Given the description of an element on the screen output the (x, y) to click on. 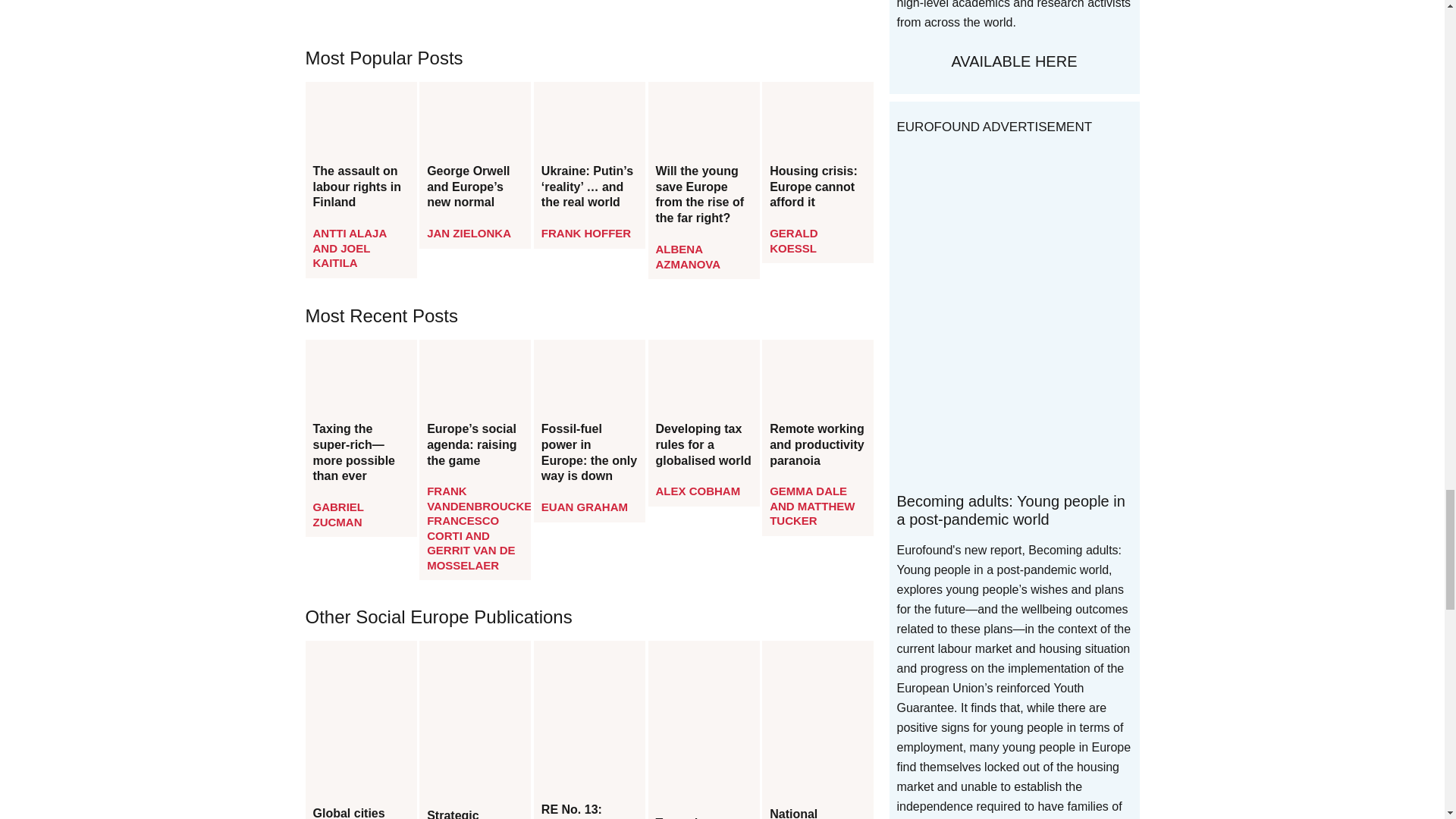
ALBENA AZMANOVA (688, 256)
Alex Cobham (698, 490)
Antti Alaja and Joel Kaitila (349, 247)
Euan Graham (584, 506)
Albena Azmanova (688, 256)
JAN ZIELONKA (468, 232)
FRANK HOFFER (585, 232)
Jan Zielonka (468, 232)
Will the young save Europe from the rise of the far right? (703, 195)
Gabriel Zucman (337, 514)
